Given the description of an element on the screen output the (x, y) to click on. 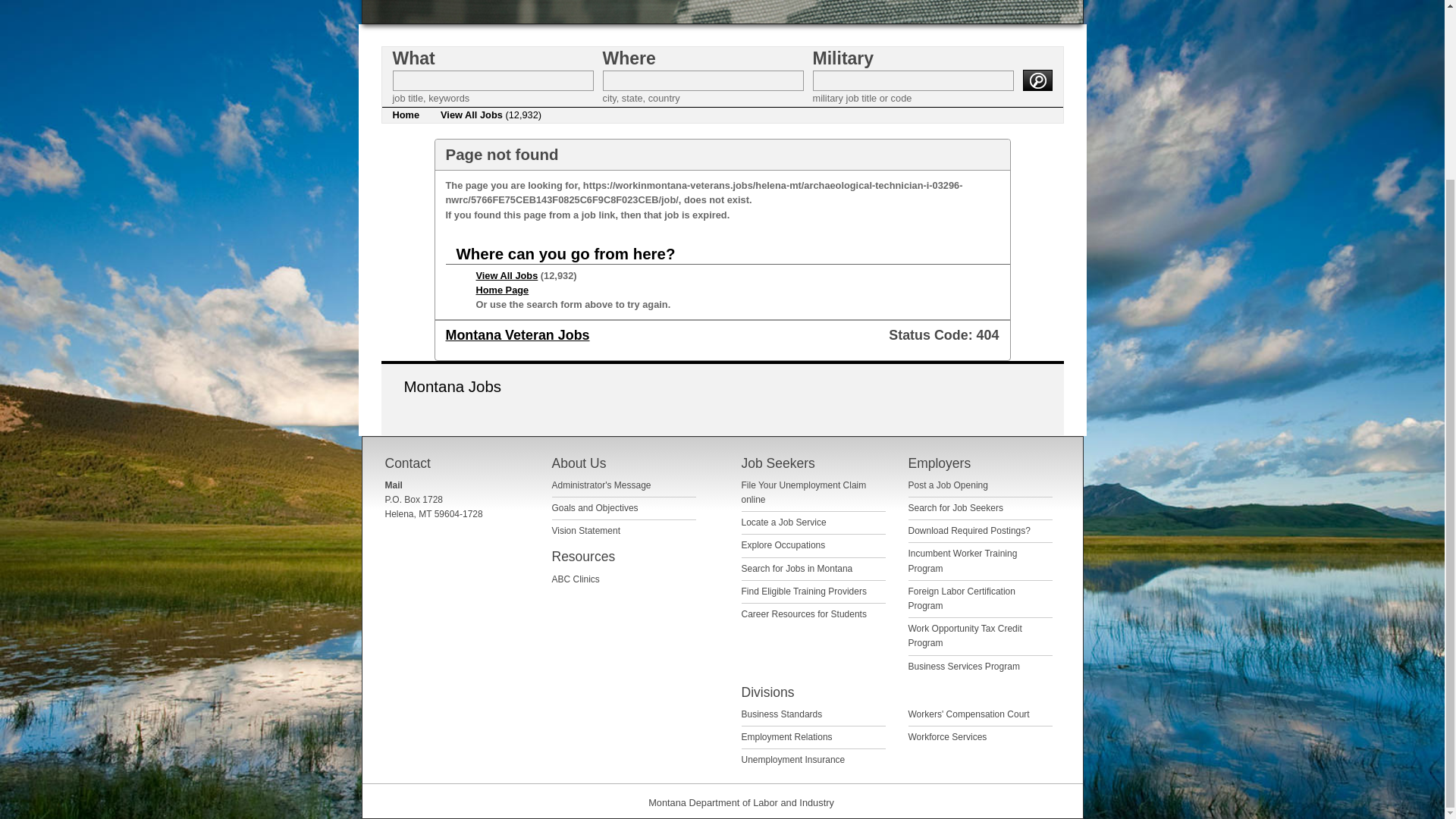
Career Resources for Students (803, 614)
Workers' Compensation Court (968, 714)
Incumbent Worker Training Program (962, 560)
Search for Job Seekers (955, 507)
Find Eligible Training Providers (803, 591)
Explore Occupations (783, 544)
ABC Clinics (575, 579)
Foreign Labor Certification Program (961, 598)
File Your Unemployment Claim online (803, 492)
Locate a Job Service (784, 521)
